Given the description of an element on the screen output the (x, y) to click on. 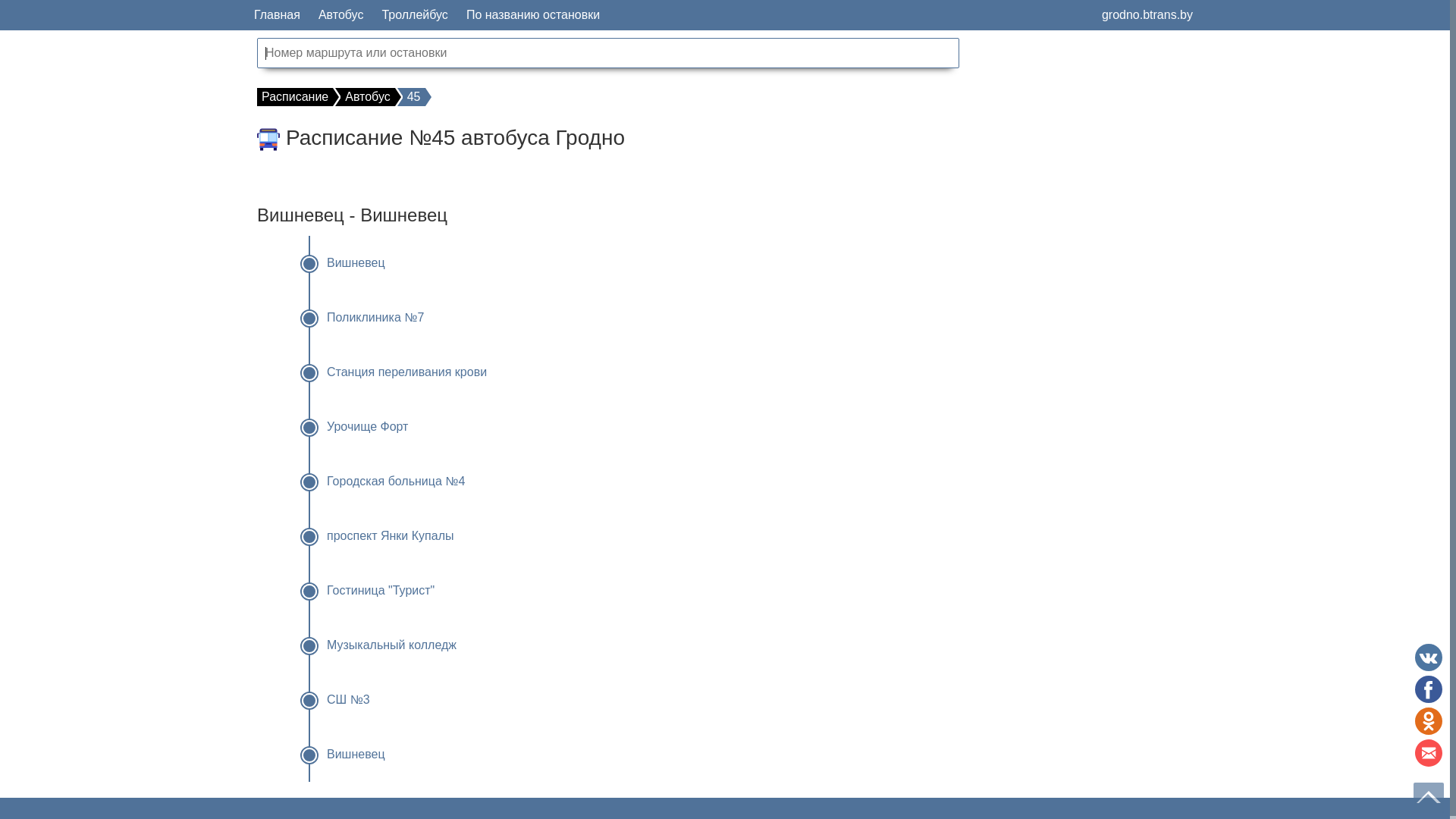
grodno.btrans.by Element type: text (1146, 15)
